Given the description of an element on the screen output the (x, y) to click on. 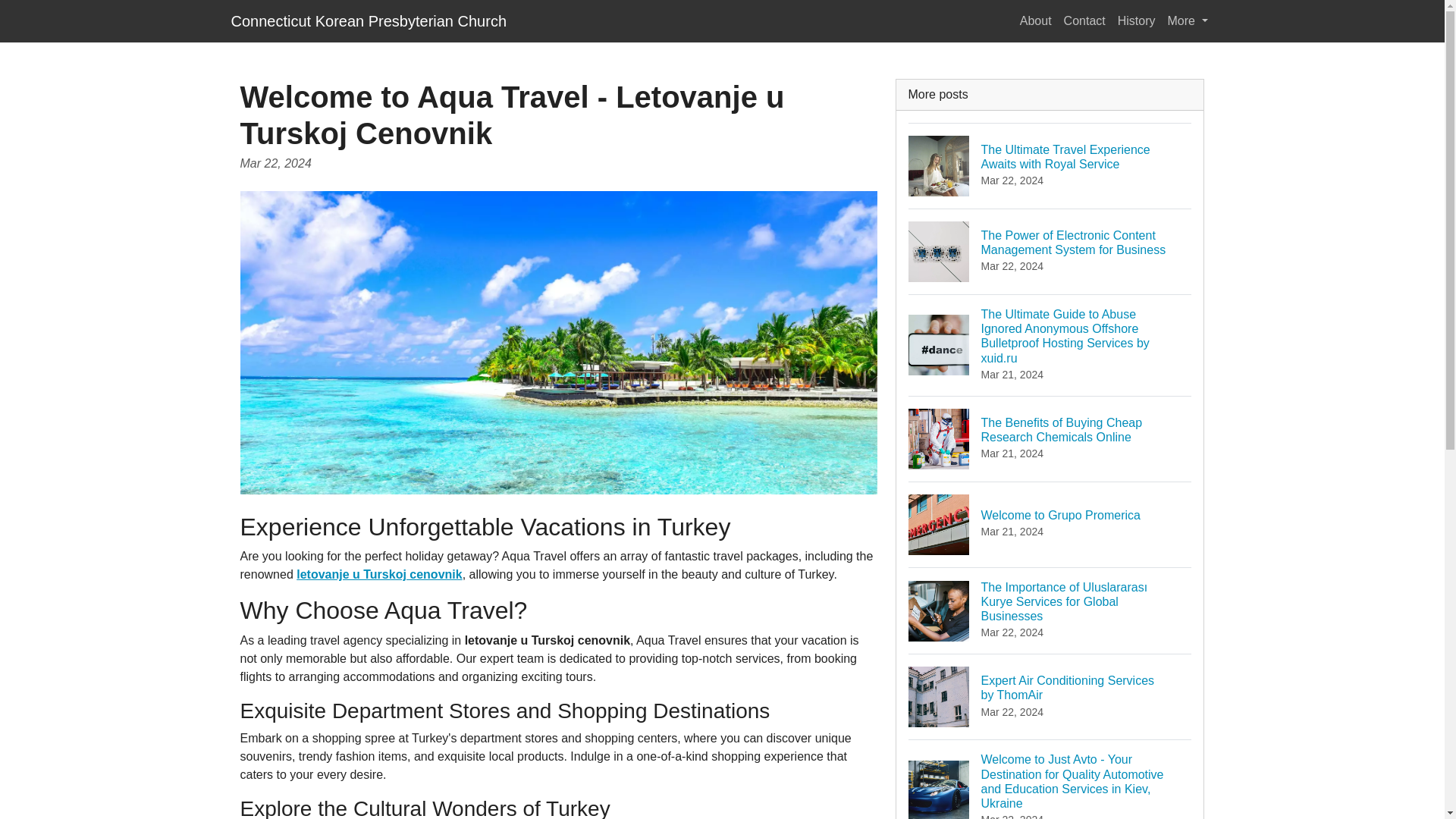
Connecticut Korean Presbyterian Church (368, 20)
History (1136, 20)
Contact (1085, 20)
About (1035, 20)
letovanje u Turskoj cenovnik (379, 574)
More (1050, 524)
